Given the description of an element on the screen output the (x, y) to click on. 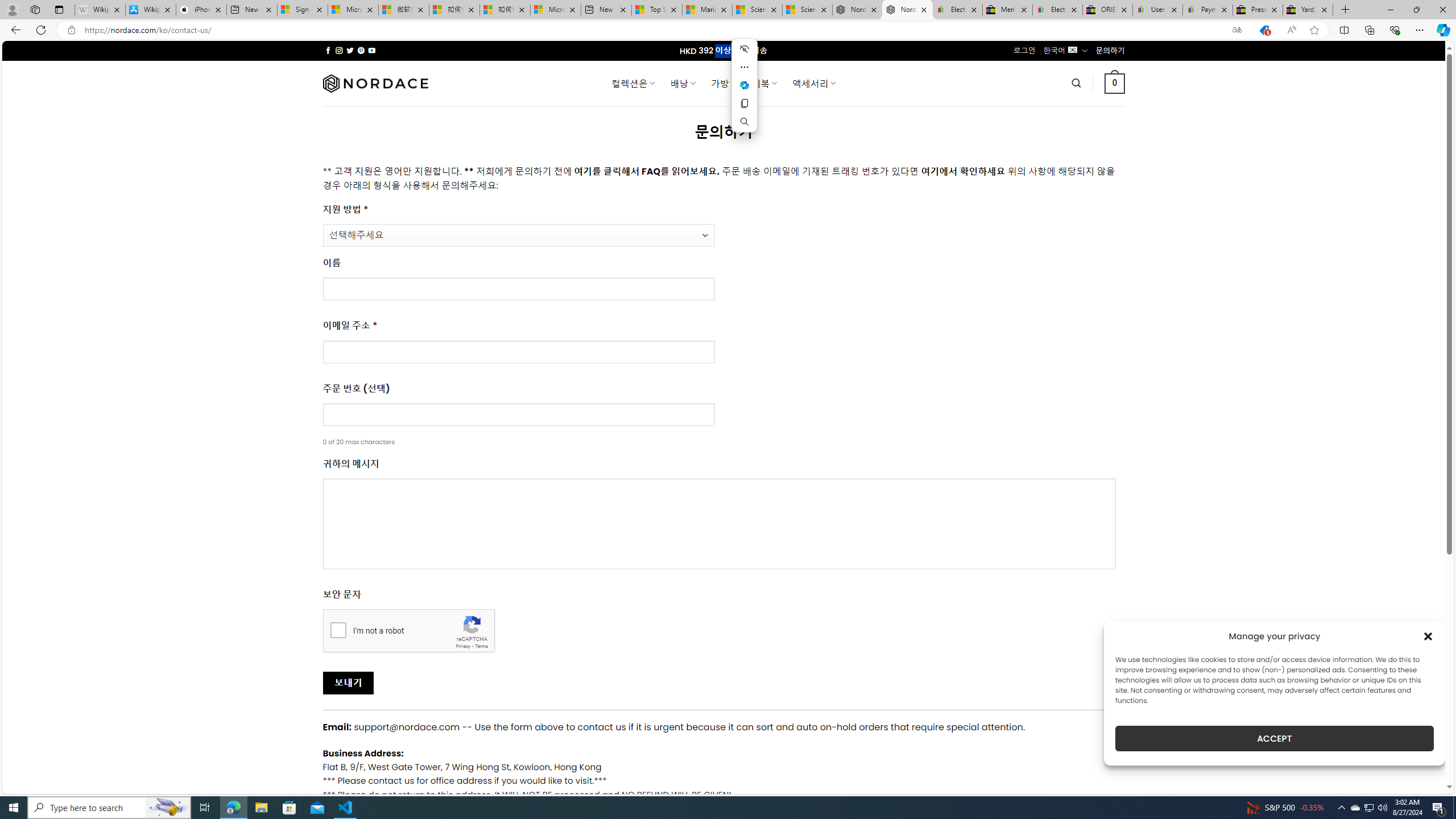
Copilot (Ctrl+Shift+.) (1442, 29)
Top Stories - MSN (656, 9)
New tab (606, 9)
Follow on Facebook (327, 50)
Marine life - MSN (706, 9)
 0  (1115, 83)
Microsoft Services Agreement (352, 9)
Follow on Pinterest (360, 50)
